Given the description of an element on the screen output the (x, y) to click on. 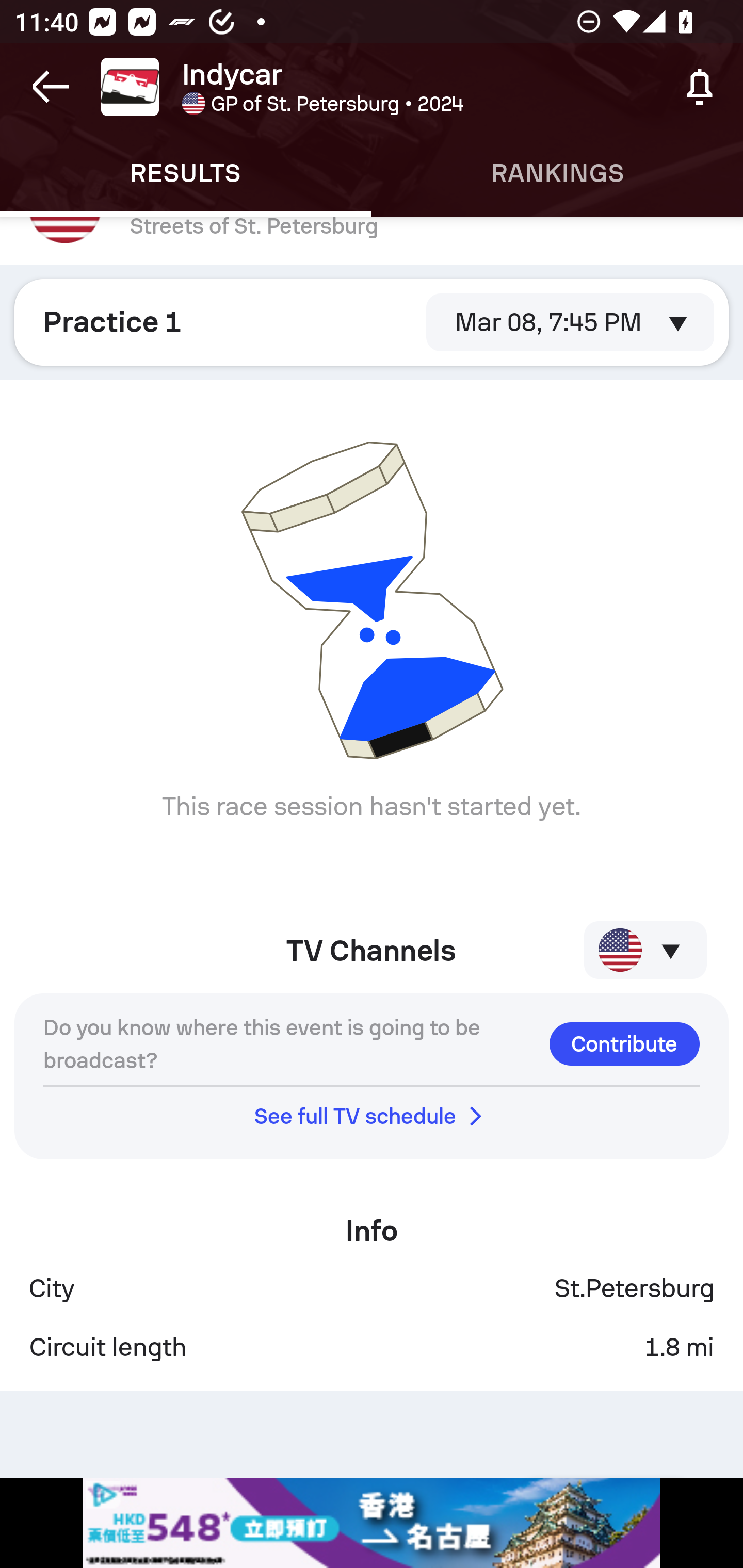
Navigate up (50, 86)
Rankings RANKINGS (557, 173)
Practice 1 Mar 08, 7:45 PM (371, 322)
Mar 08, 7:45 PM (570, 322)
Contribute (624, 1043)
See full TV schedule (371, 1115)
ysfecx5i_320x50 (371, 1522)
